Given the description of an element on the screen output the (x, y) to click on. 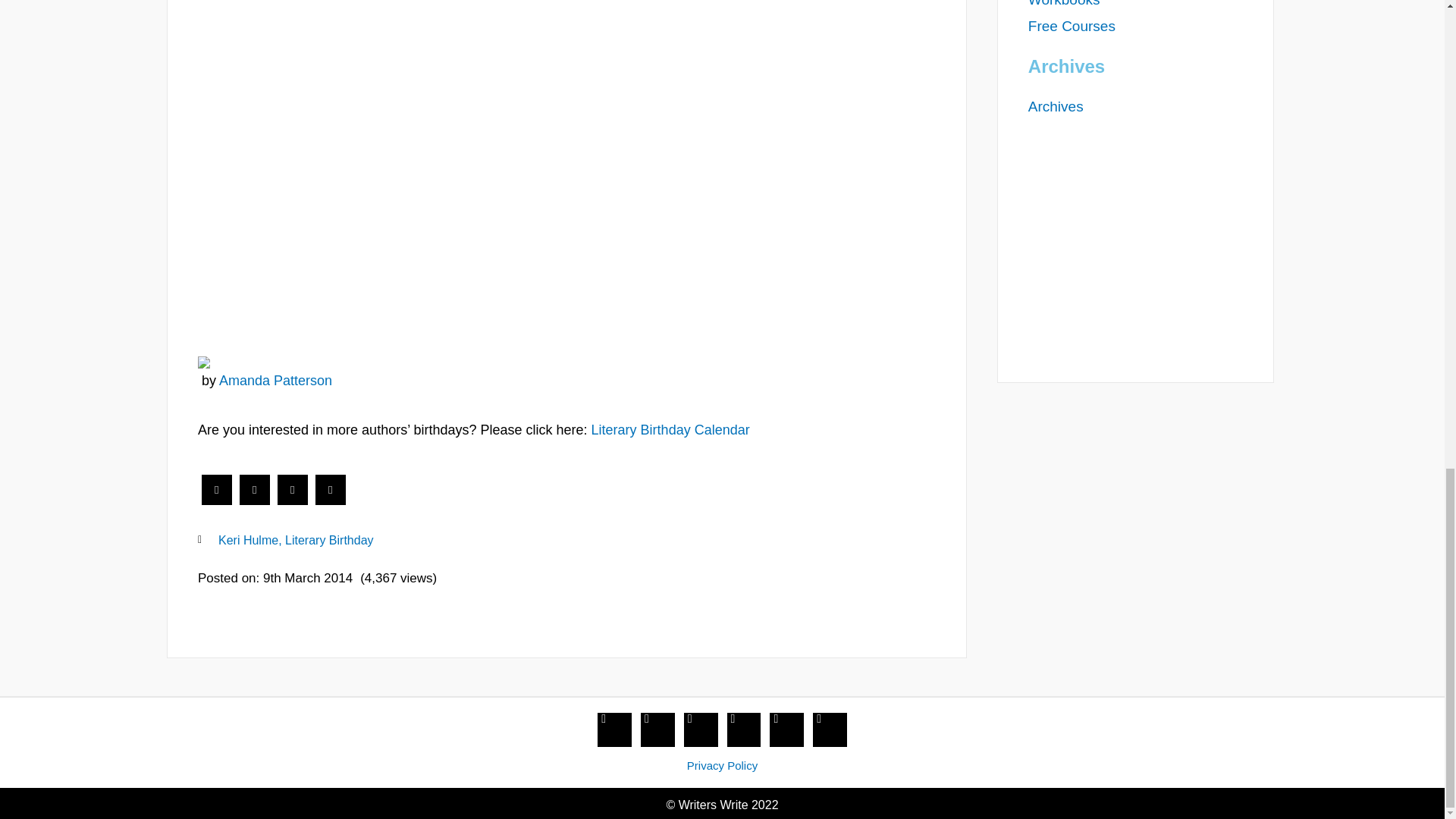
Share on Twitter (254, 500)
Share to LinkedIn (292, 500)
Share on Pinterest (330, 500)
Share on Facebook (216, 500)
